Given the description of an element on the screen output the (x, y) to click on. 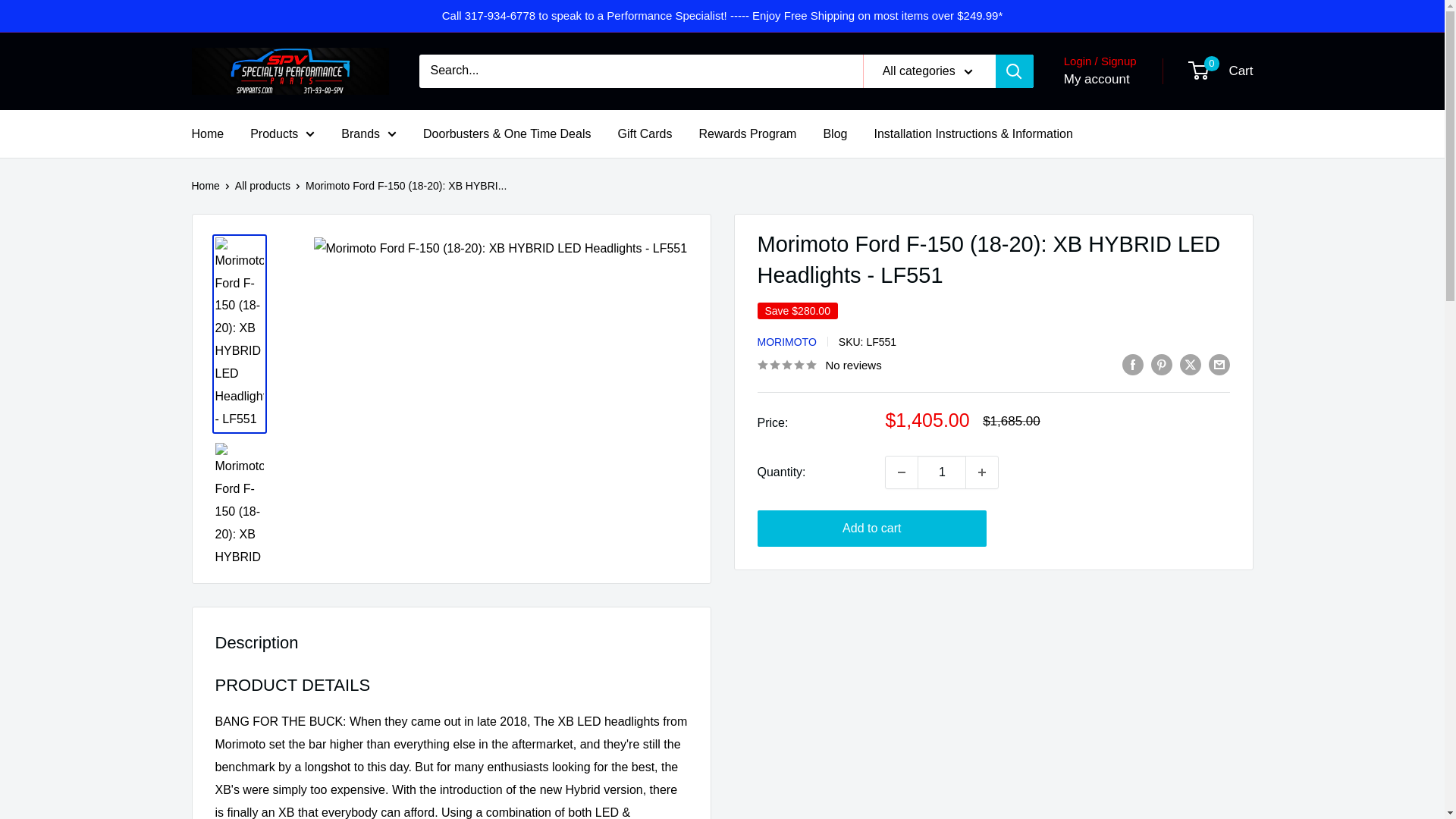
Decrease quantity by 1 (901, 472)
1 (941, 472)
Increase quantity by 1 (981, 472)
